Given the description of an element on the screen output the (x, y) to click on. 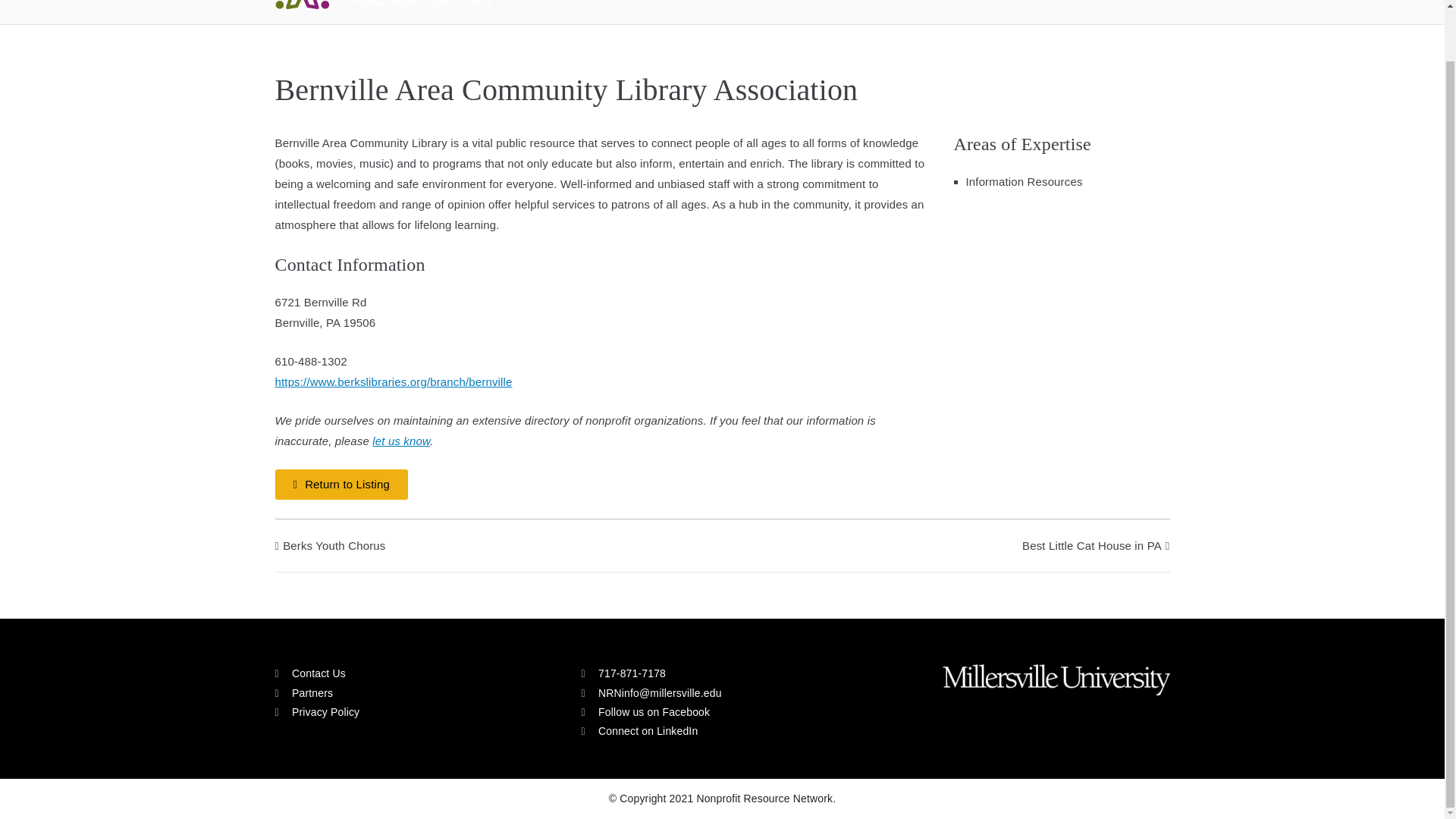
Best Little Cat House in PA (1096, 545)
Follow us on Facebook (645, 711)
Return to Listing (341, 484)
Privacy Policy (415, 711)
Contact Us (415, 673)
Connect on LinkedIn (638, 730)
let us know (400, 440)
Berks Youth Chorus (330, 545)
Nonprofit Resource Network (650, 1)
Partners (415, 692)
